Given the description of an element on the screen output the (x, y) to click on. 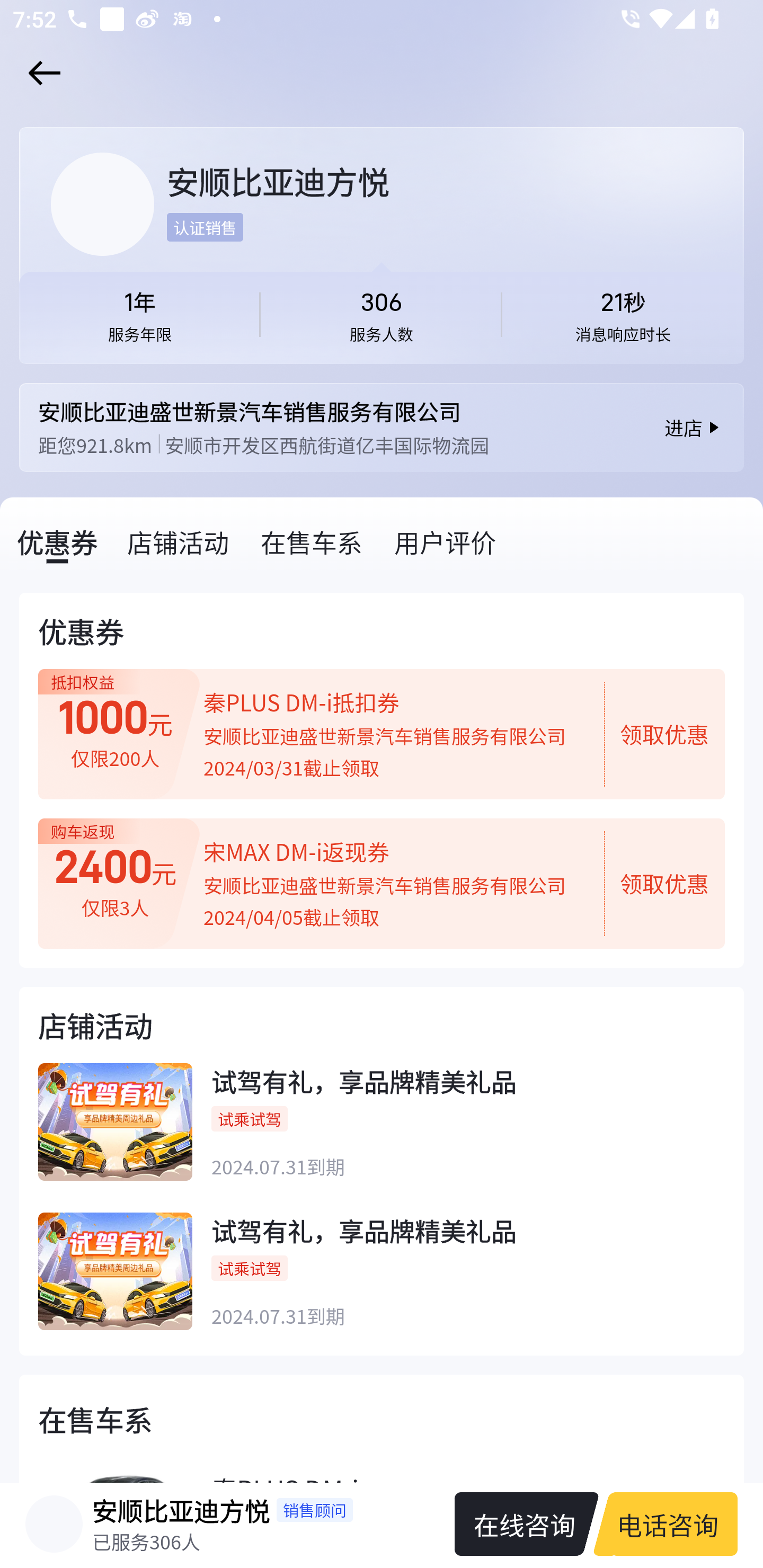
 (41, 72)
认证销售 (205, 227)
安顺比亚迪盛世新景汽车销售服务有限公司 距您921.8km 安顺市开发区西航街道亿丰国际物流园 进店 (381, 426)
优惠券 (57, 541)
店铺活动 (178, 541)
在售车系 (311, 541)
用户评价 (445, 541)
试驾有礼，享品牌精美礼品 试乘试驾 2024.07.31到期 (381, 1137)
试驾有礼，享品牌精美礼品 试乘试驾 2024.07.31到期 (381, 1284)
在线咨询 (517, 1523)
电话咨询 (672, 1523)
